Given the description of an element on the screen output the (x, y) to click on. 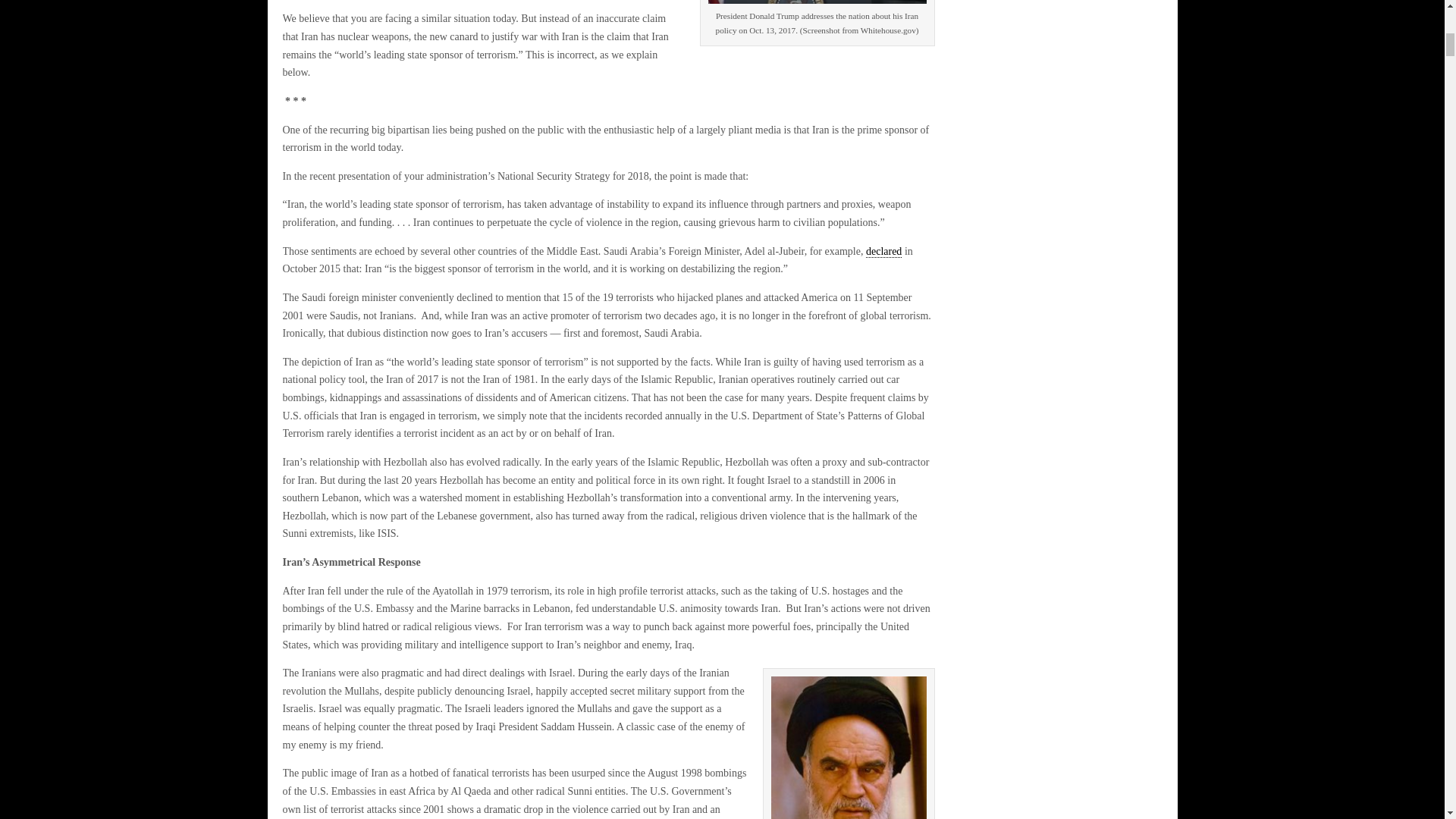
declared (883, 251)
